Given the description of an element on the screen output the (x, y) to click on. 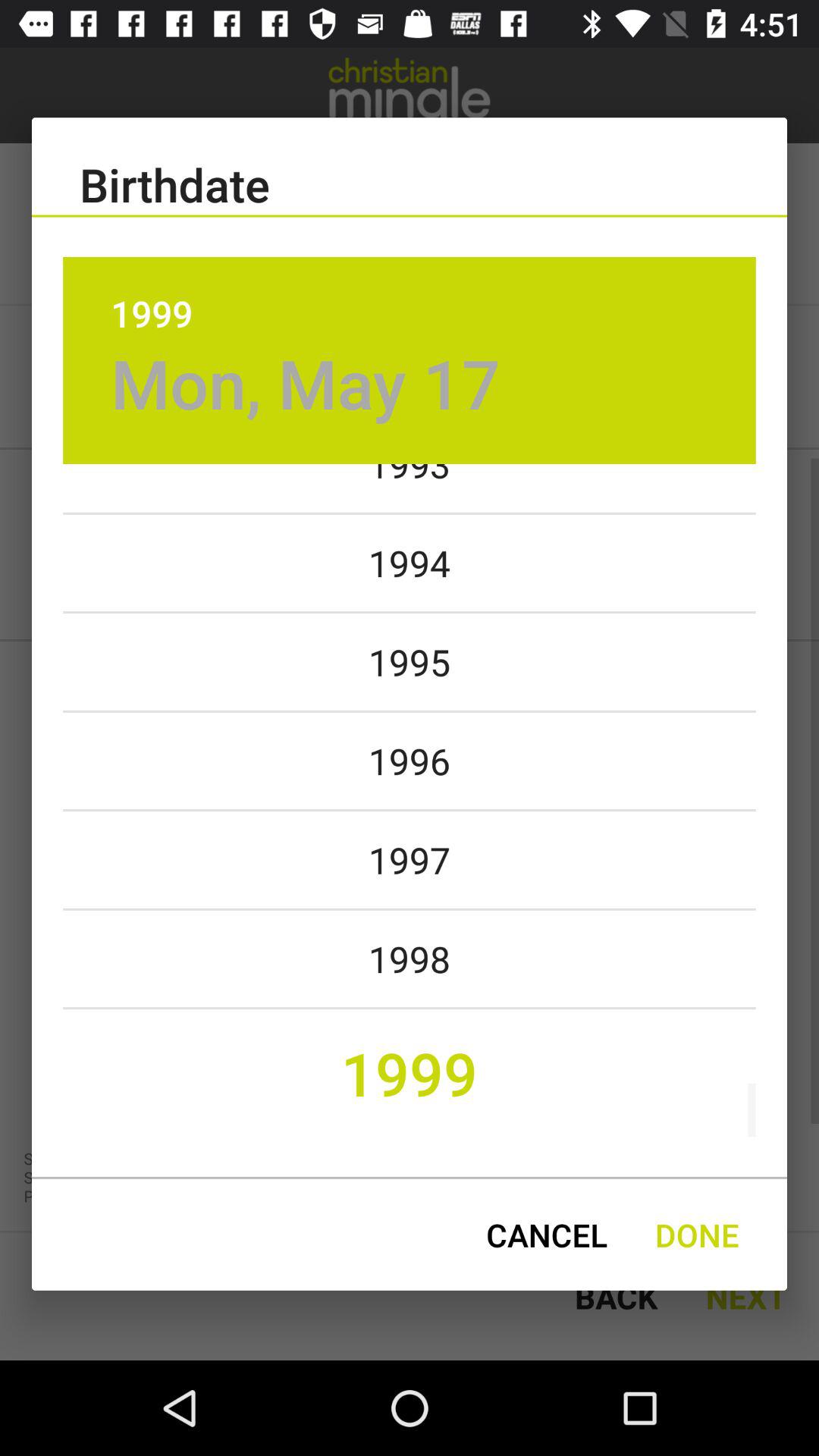
choose icon to the right of the cancel item (697, 1234)
